Given the description of an element on the screen output the (x, y) to click on. 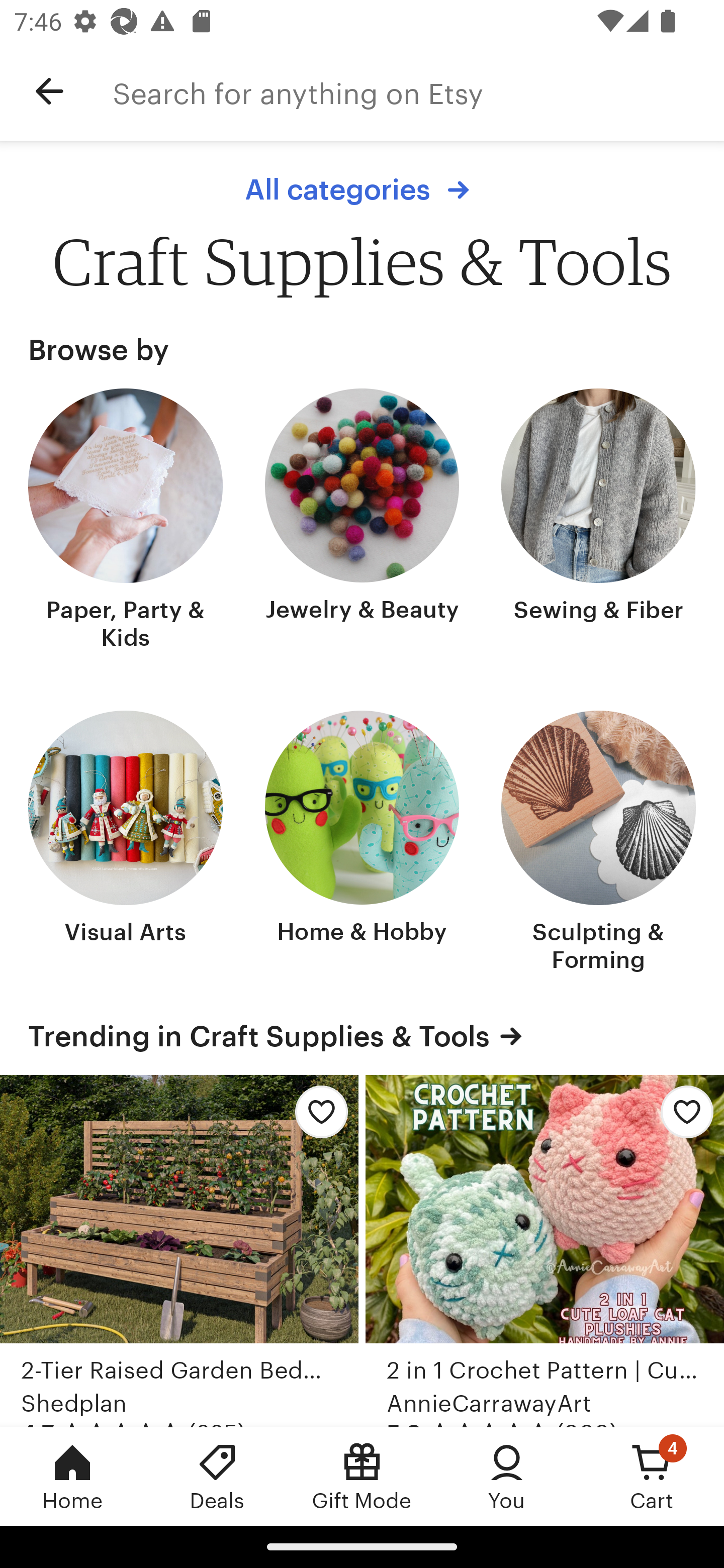
Navigate up (49, 91)
Search for anything on Etsy (418, 91)
All categories (361, 189)
Paper, Party & Kids (125, 520)
Jewelry & Beauty (361, 520)
Sewing & Fiber (598, 520)
Visual Arts (125, 843)
Home & Hobby (361, 843)
Sculpting & Forming (598, 843)
Trending in Craft Supplies & Tools  (361, 1036)
Deals (216, 1475)
Gift Mode (361, 1475)
You (506, 1475)
Cart, 4 new notifications Cart (651, 1475)
